Given the description of an element on the screen output the (x, y) to click on. 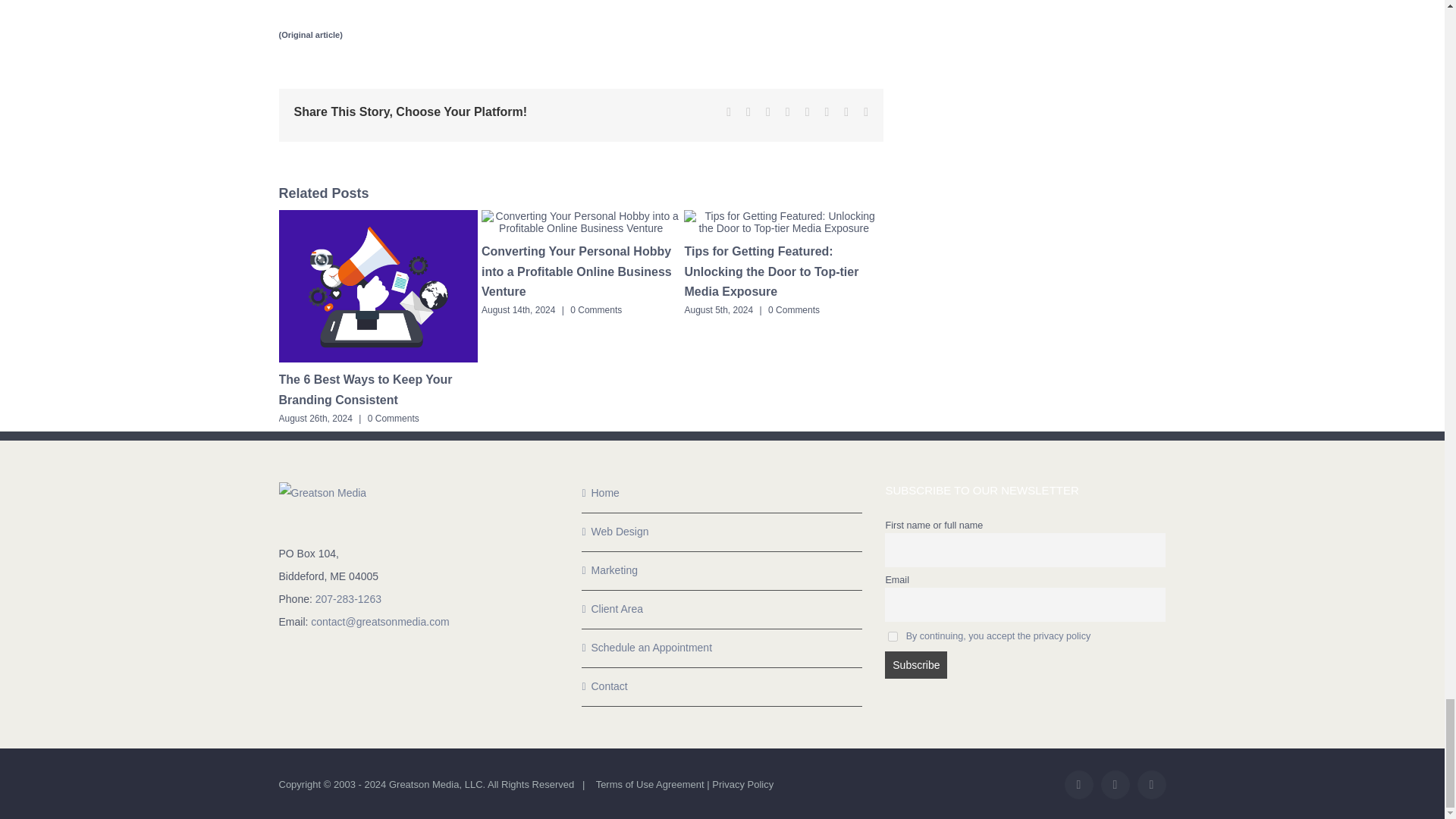
The 6 Best Ways to Keep Your Branding Consistent (365, 389)
on (893, 636)
Subscribe (916, 664)
